Given the description of an element on the screen output the (x, y) to click on. 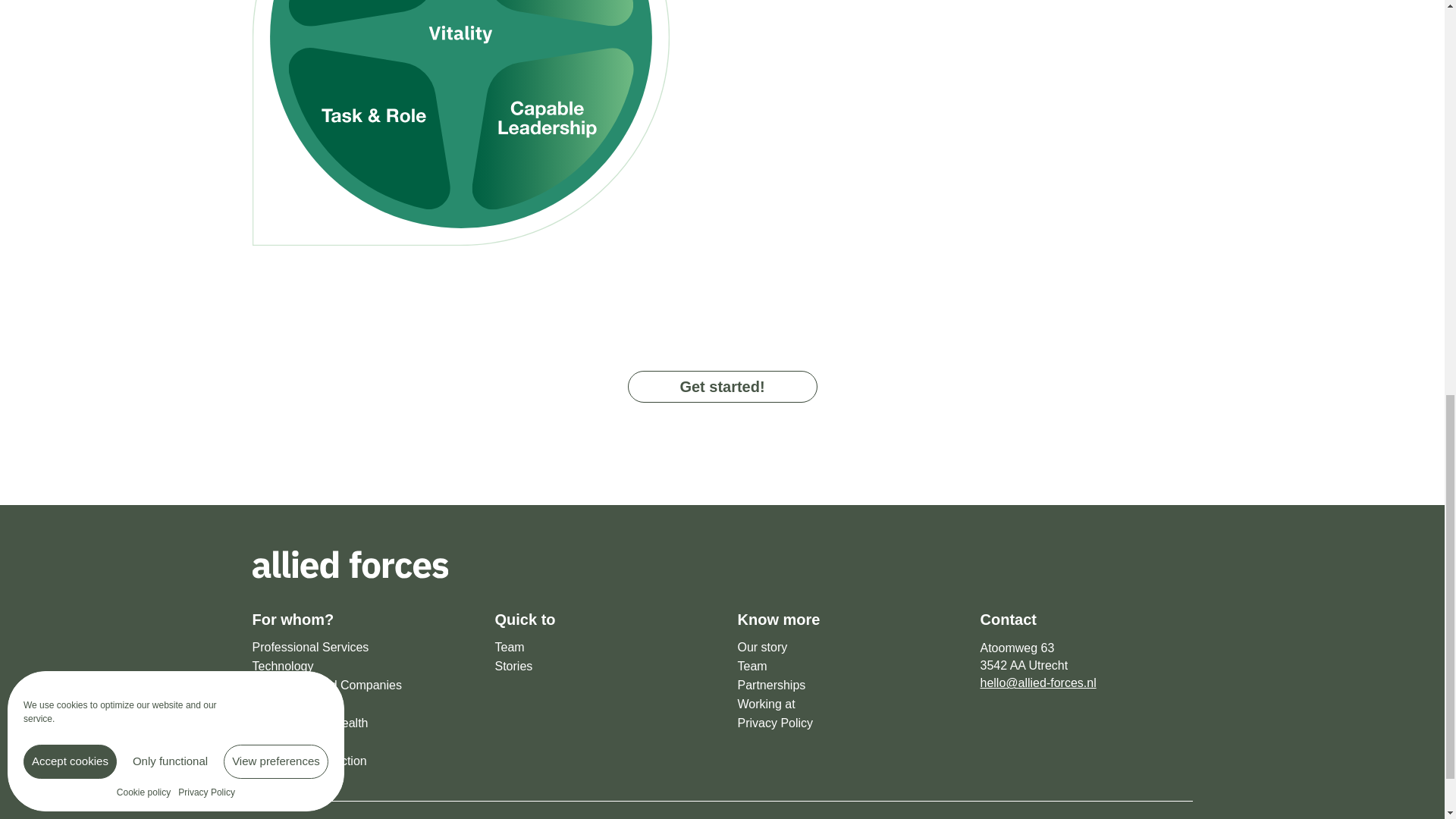
Maritime (357, 704)
Government (357, 742)
Investor Owned Companies (357, 685)
Get started! (721, 386)
Technology (357, 666)
Professional Services (357, 647)
